Given the description of an element on the screen output the (x, y) to click on. 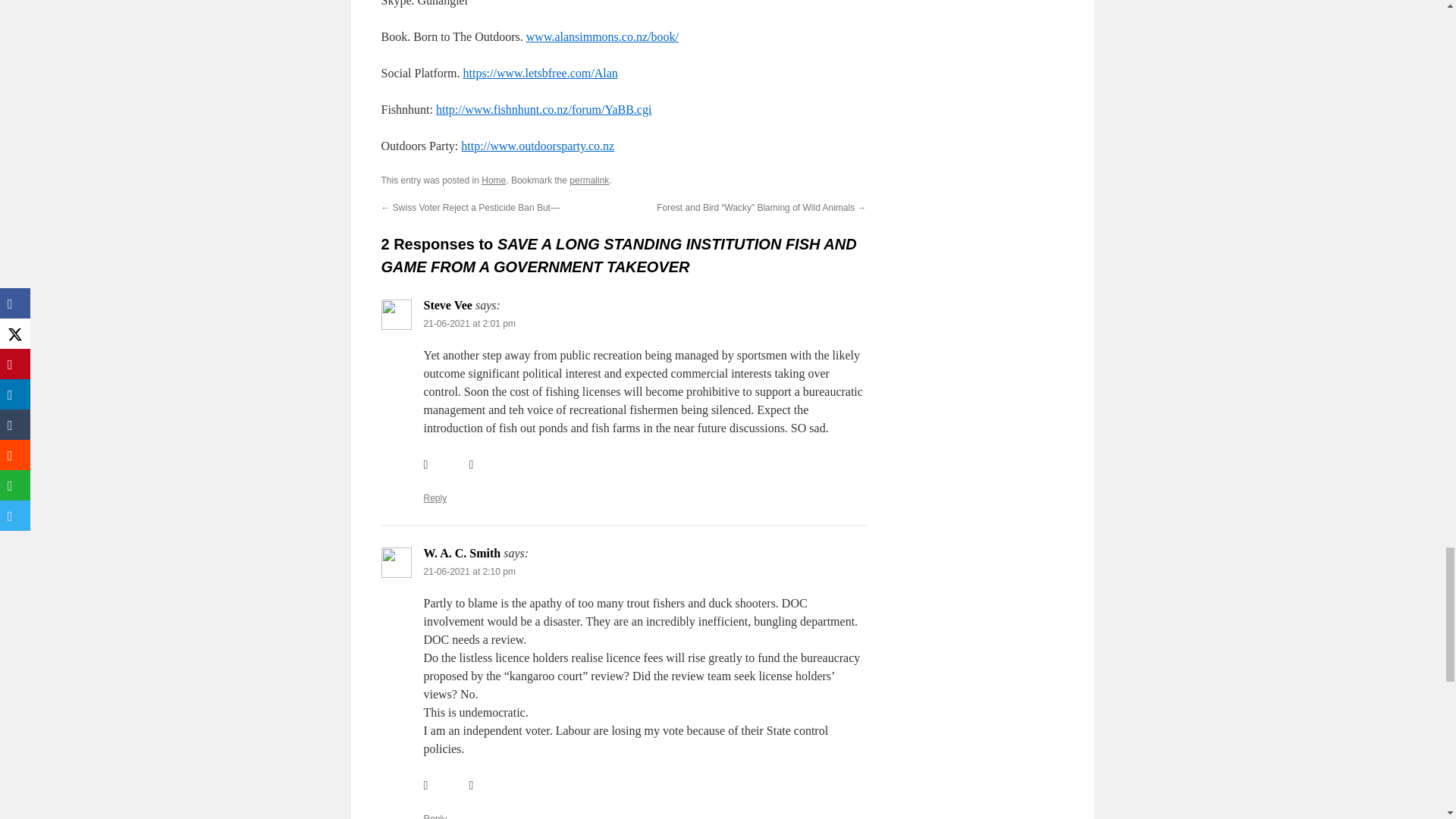
Reply (434, 498)
permalink (588, 180)
Home (493, 180)
Reply (434, 816)
21-06-2021 at 2:10 pm (469, 571)
21-06-2021 at 2:01 pm (469, 323)
